Given the description of an element on the screen output the (x, y) to click on. 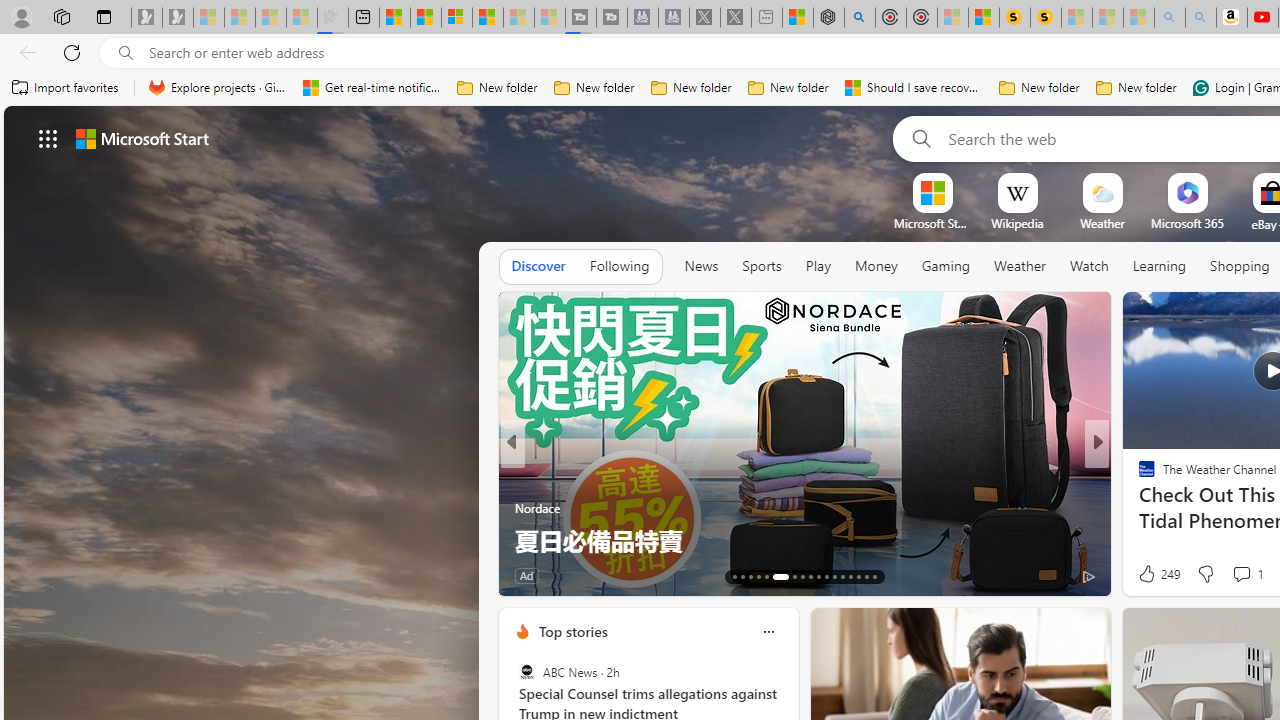
Microsoft Start - Sleeping (518, 17)
Microsoft start (142, 138)
News (701, 267)
Ad (1142, 575)
AutomationID: tab-22 (818, 576)
AutomationID: tab-28 (865, 576)
Start the conversation (1229, 575)
Bolde Media (1138, 475)
View comments 397 Comment (11, 575)
AutomationID: waffle (47, 138)
AutomationID: tab-19 (788, 576)
AutomationID: tab-14 (742, 576)
Gaming (945, 265)
